Given the description of an element on the screen output the (x, y) to click on. 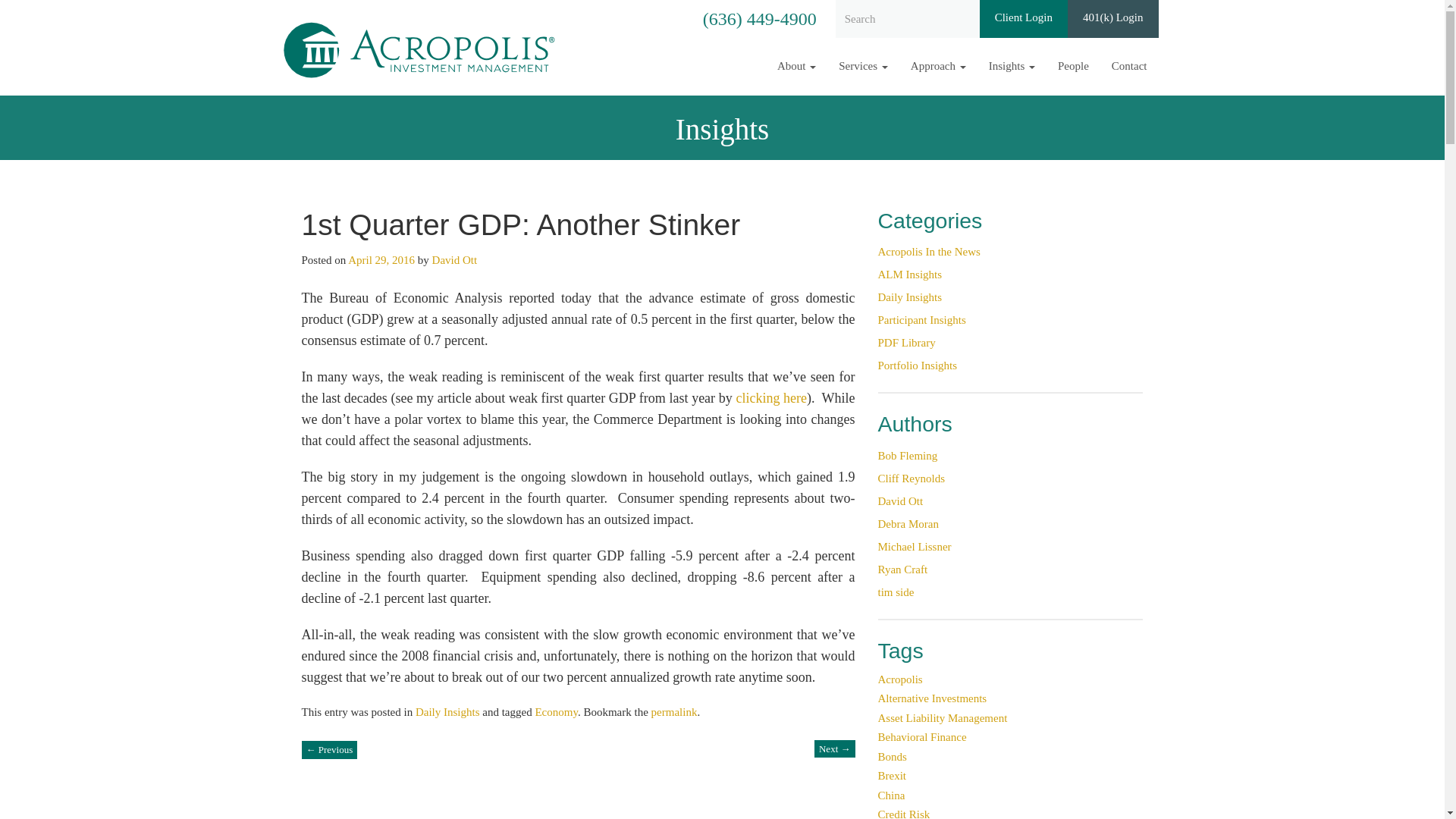
Client Login (1023, 18)
Participant Insights (921, 319)
Posts by tim side (895, 592)
Acropolis In the News (928, 251)
Insights (1011, 66)
Posts by Cliff Reynolds (910, 478)
Contact (1129, 66)
Approach (937, 66)
People (1073, 66)
Economy (556, 711)
David Ott (454, 259)
ALM Insights (909, 274)
clicking here (770, 397)
Approach (937, 66)
Services (863, 66)
